Given the description of an element on the screen output the (x, y) to click on. 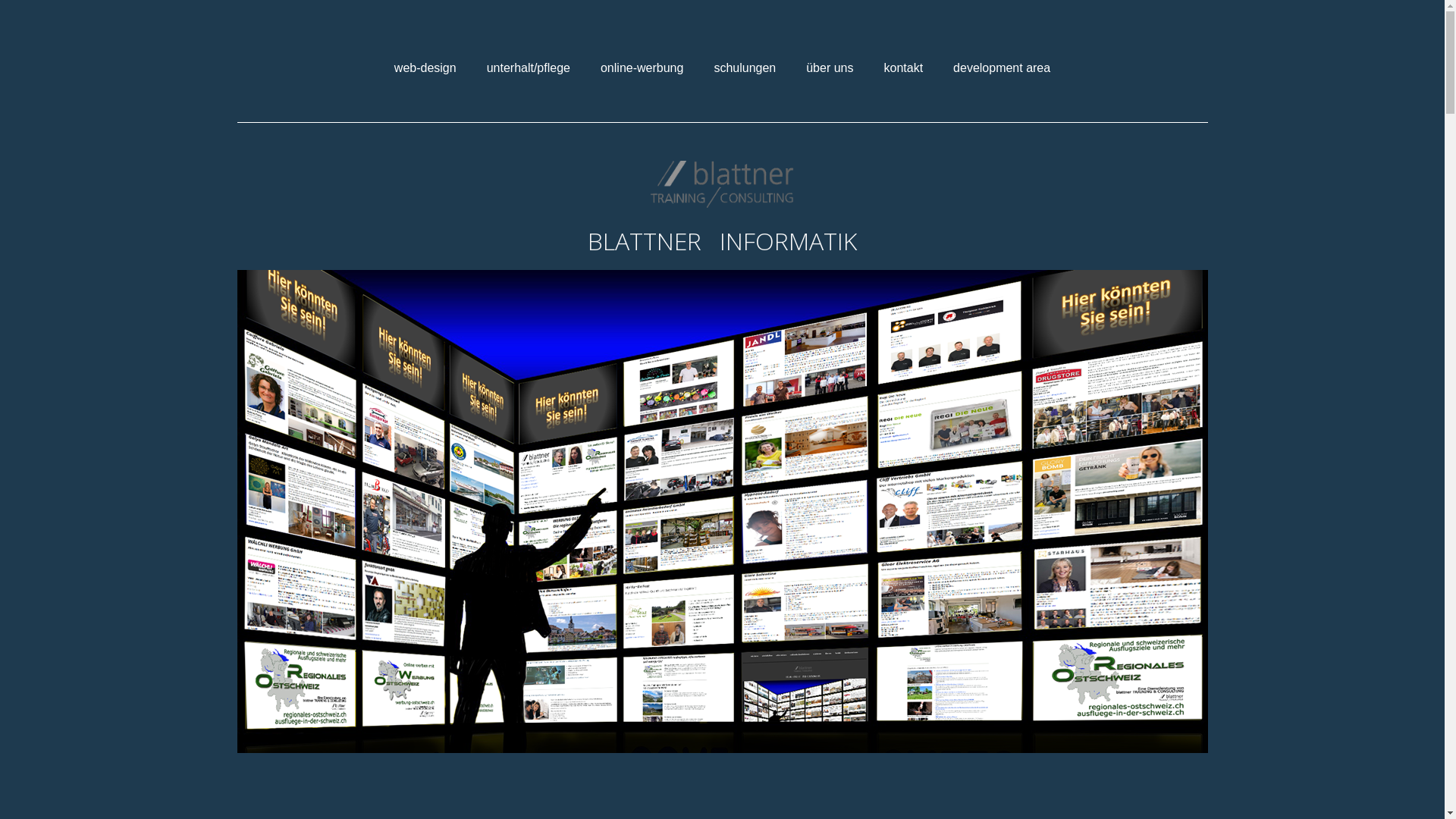
kontakt Element type: text (903, 68)
schulungen Element type: text (744, 68)
online-werbung Element type: text (641, 68)
development area Element type: text (1001, 68)
web-design Element type: text (424, 68)
unterhalt/pflege Element type: text (528, 68)
